Given the description of an element on the screen output the (x, y) to click on. 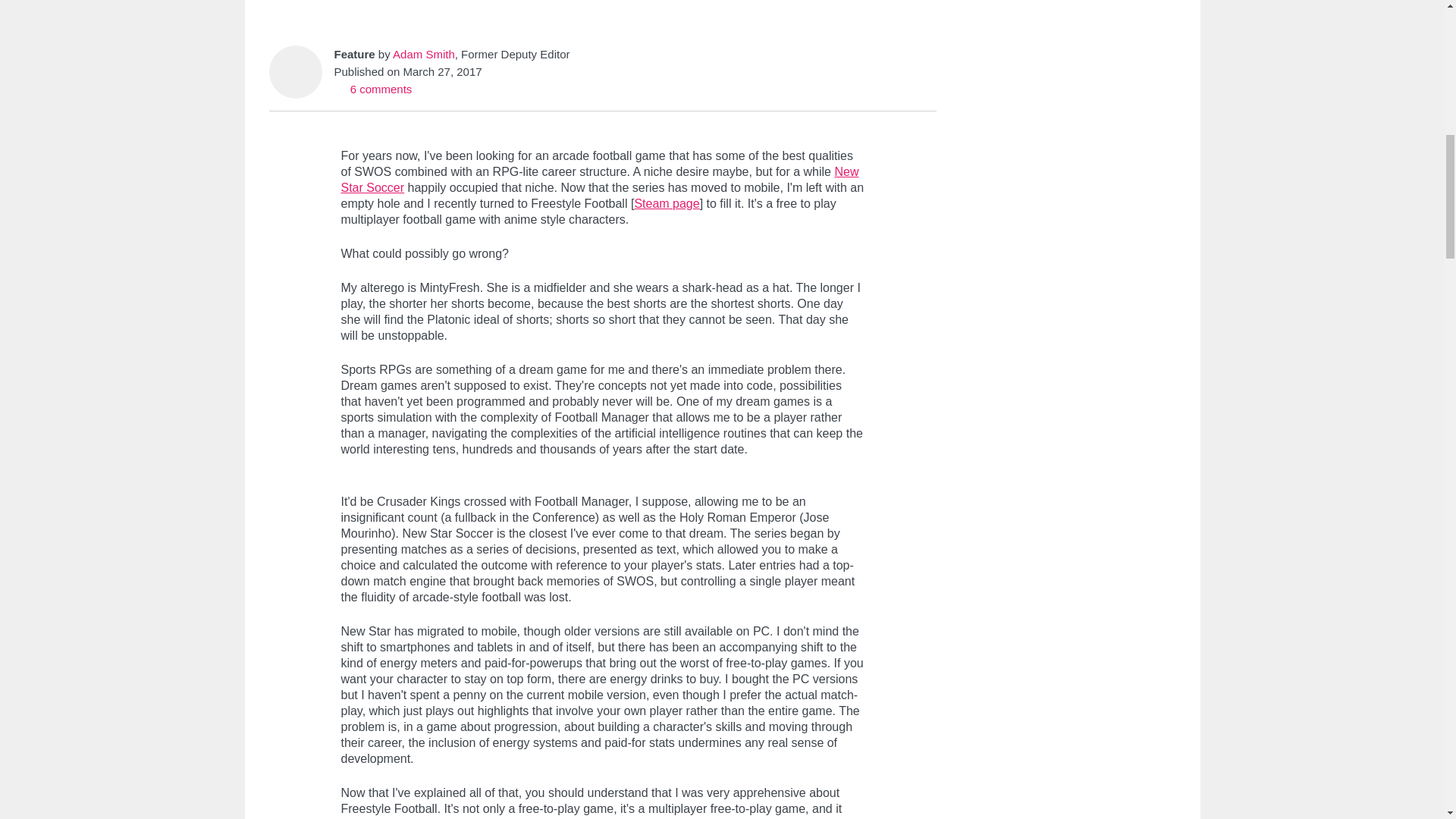
6 comments (372, 88)
New Star Soccer (599, 179)
Adam Smith (423, 53)
Steam page (665, 203)
